Given the description of an element on the screen output the (x, y) to click on. 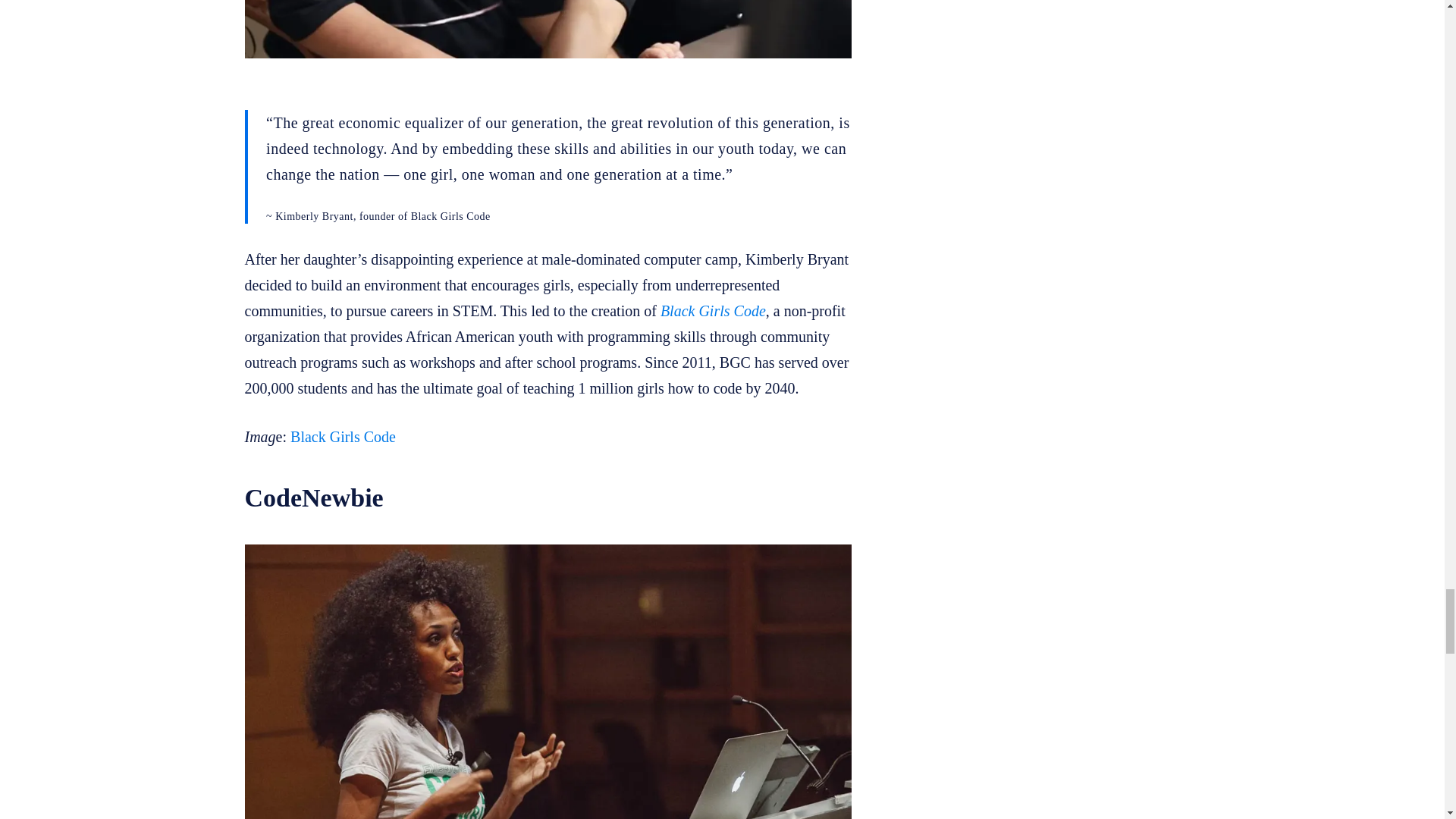
Black Girls Code (342, 436)
Black Girls Code (713, 310)
